Given the description of an element on the screen output the (x, y) to click on. 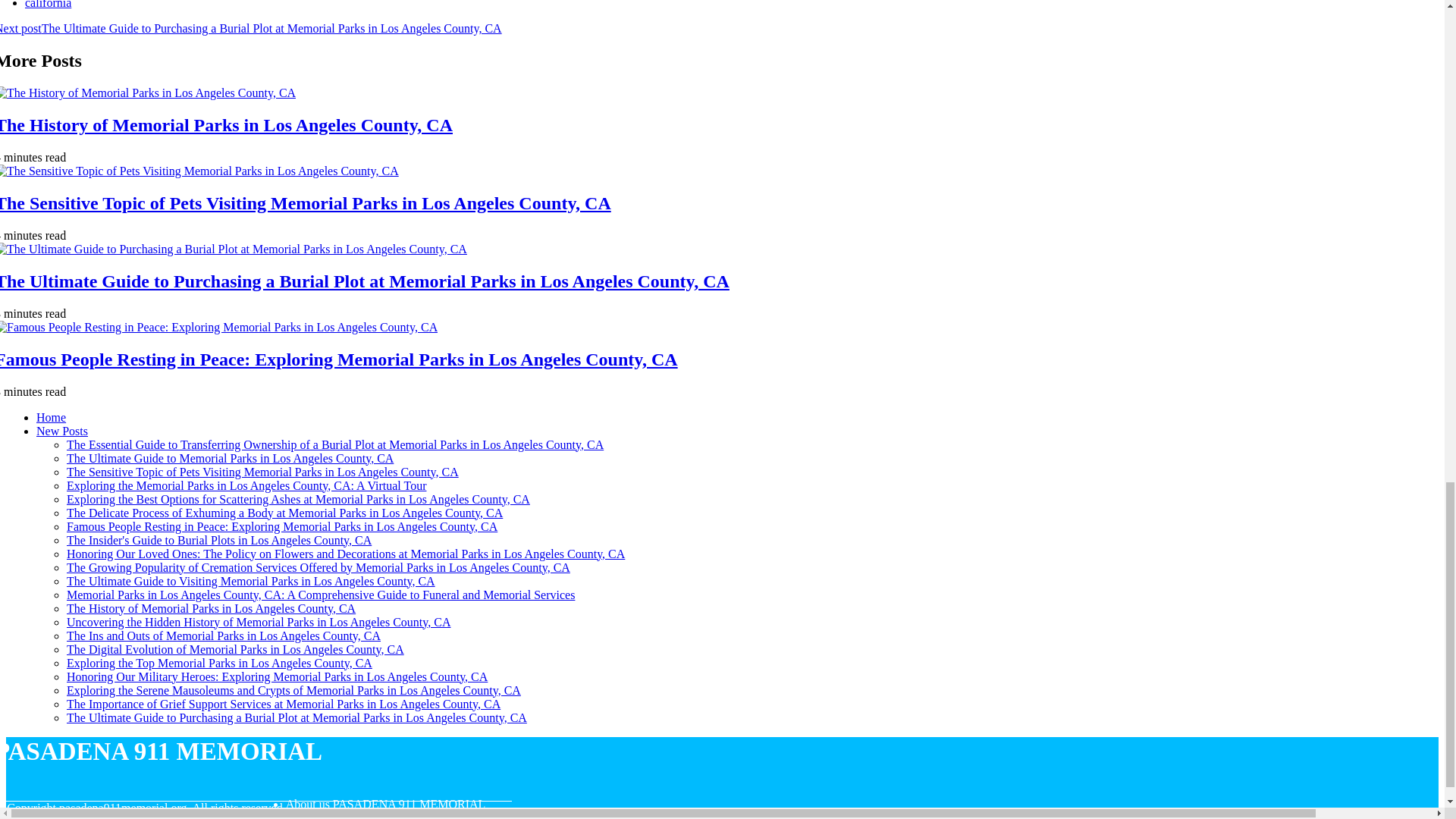
The History of Memorial Parks in Los Angeles County, CA (210, 607)
california (47, 4)
